Given the description of an element on the screen output the (x, y) to click on. 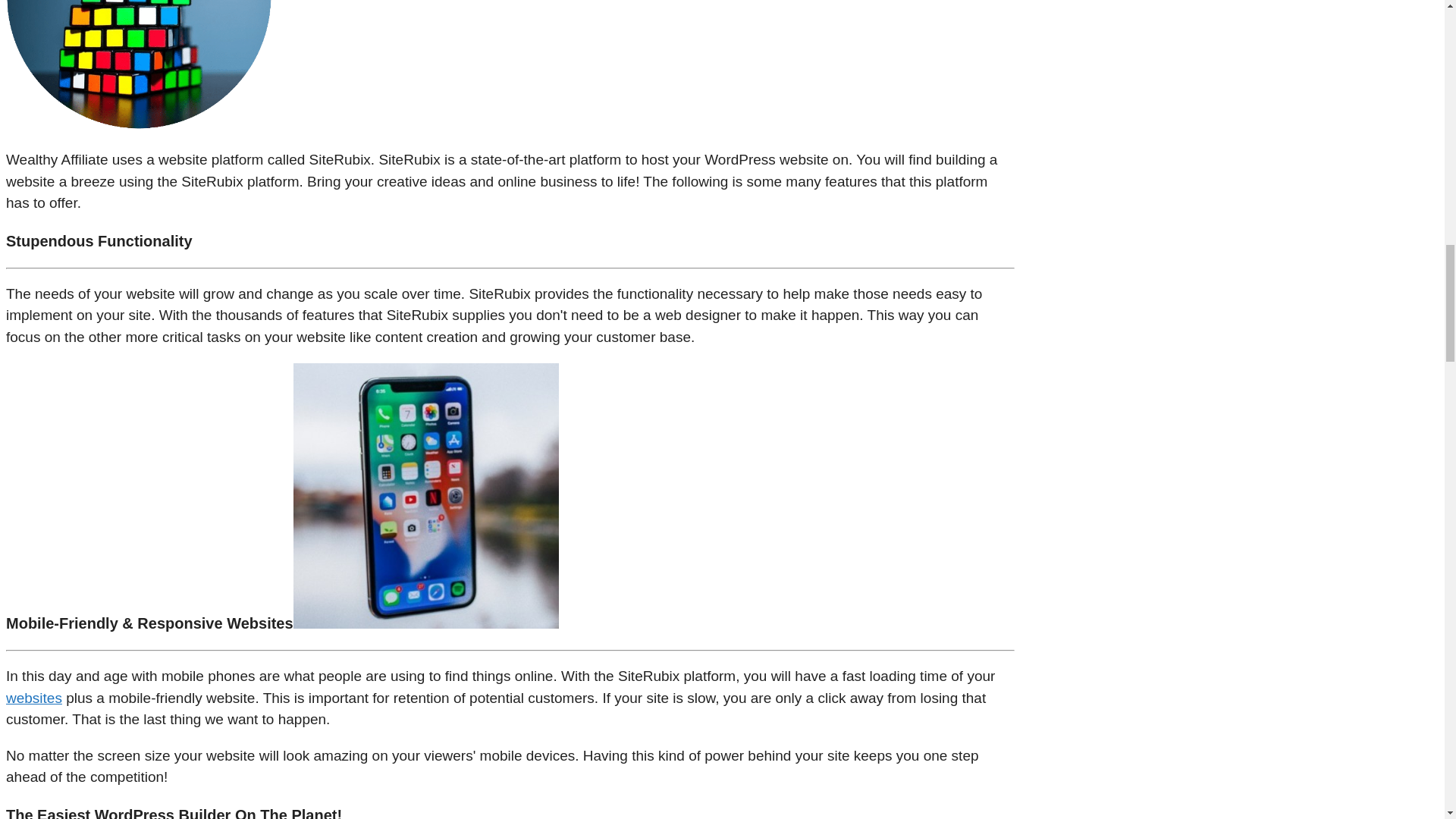
websites (33, 697)
Mobile Friendly (426, 495)
Site Rubix (137, 64)
